Given the description of an element on the screen output the (x, y) to click on. 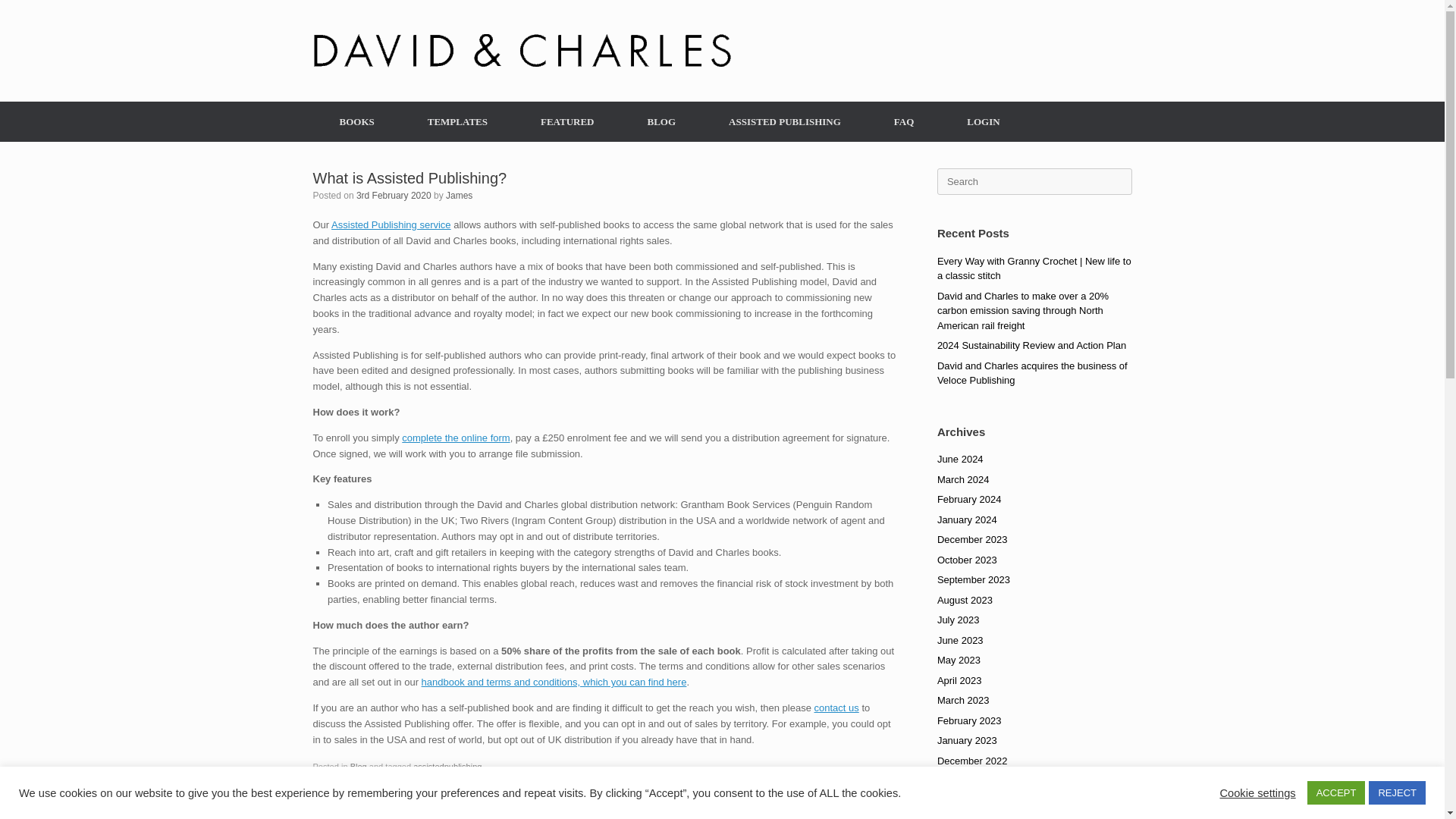
Blog (358, 766)
handbook and terms and conditions, which you can find here (554, 681)
James (458, 195)
3rd February 2020 (393, 195)
FEATURED (567, 121)
contact us (836, 707)
complete the online form (455, 437)
View all posts by James (458, 195)
8:42 pm (393, 195)
ASSISTED PUBLISHING (784, 121)
